Given the description of an element on the screen output the (x, y) to click on. 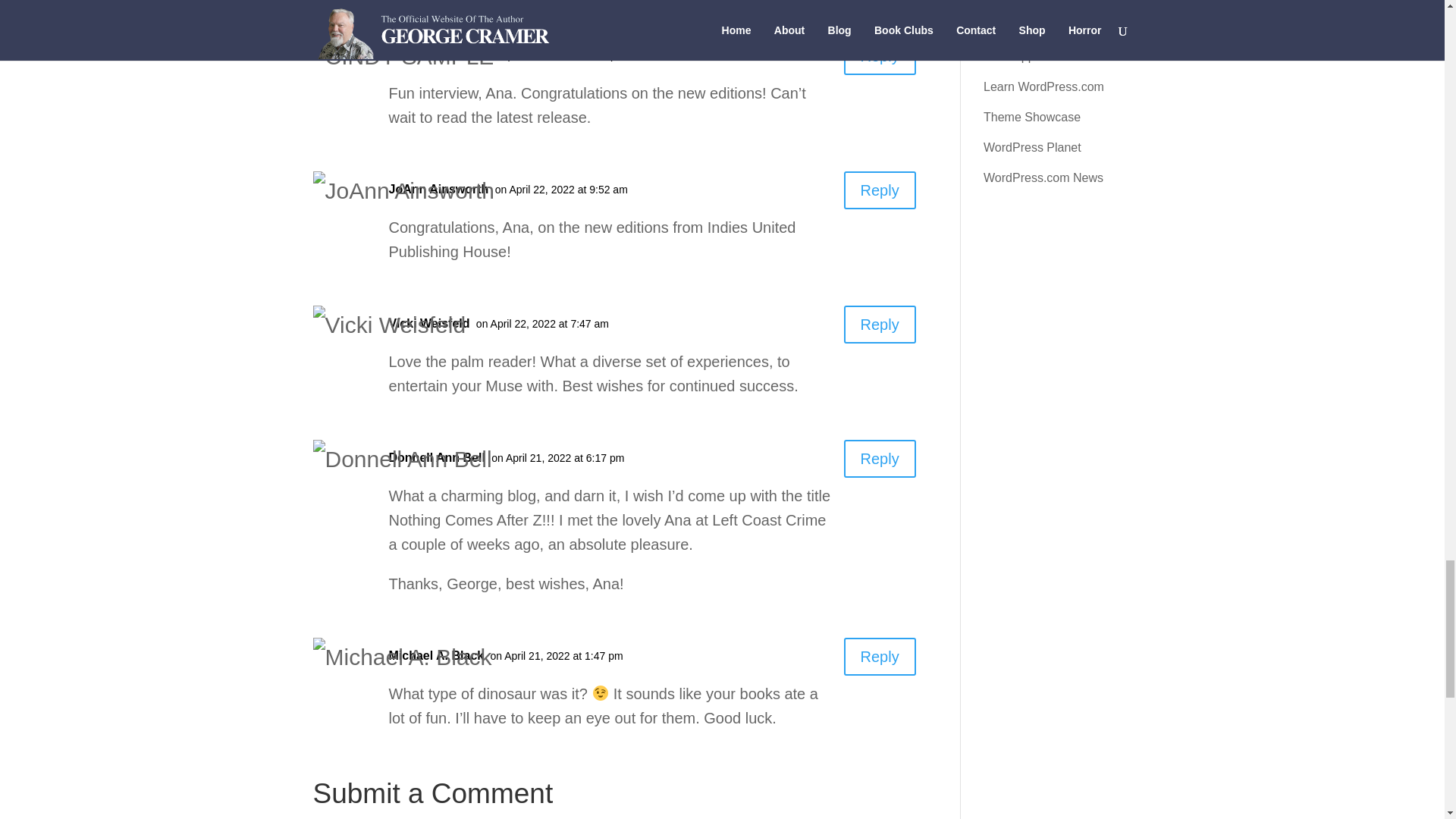
Reply (879, 55)
JoAnn Ainsworth (437, 188)
Reply (879, 656)
Reply (879, 190)
Vicki Weisfeld (428, 323)
Reply (879, 458)
Donnell Ann Bell (436, 457)
Reply (879, 324)
